Given the description of an element on the screen output the (x, y) to click on. 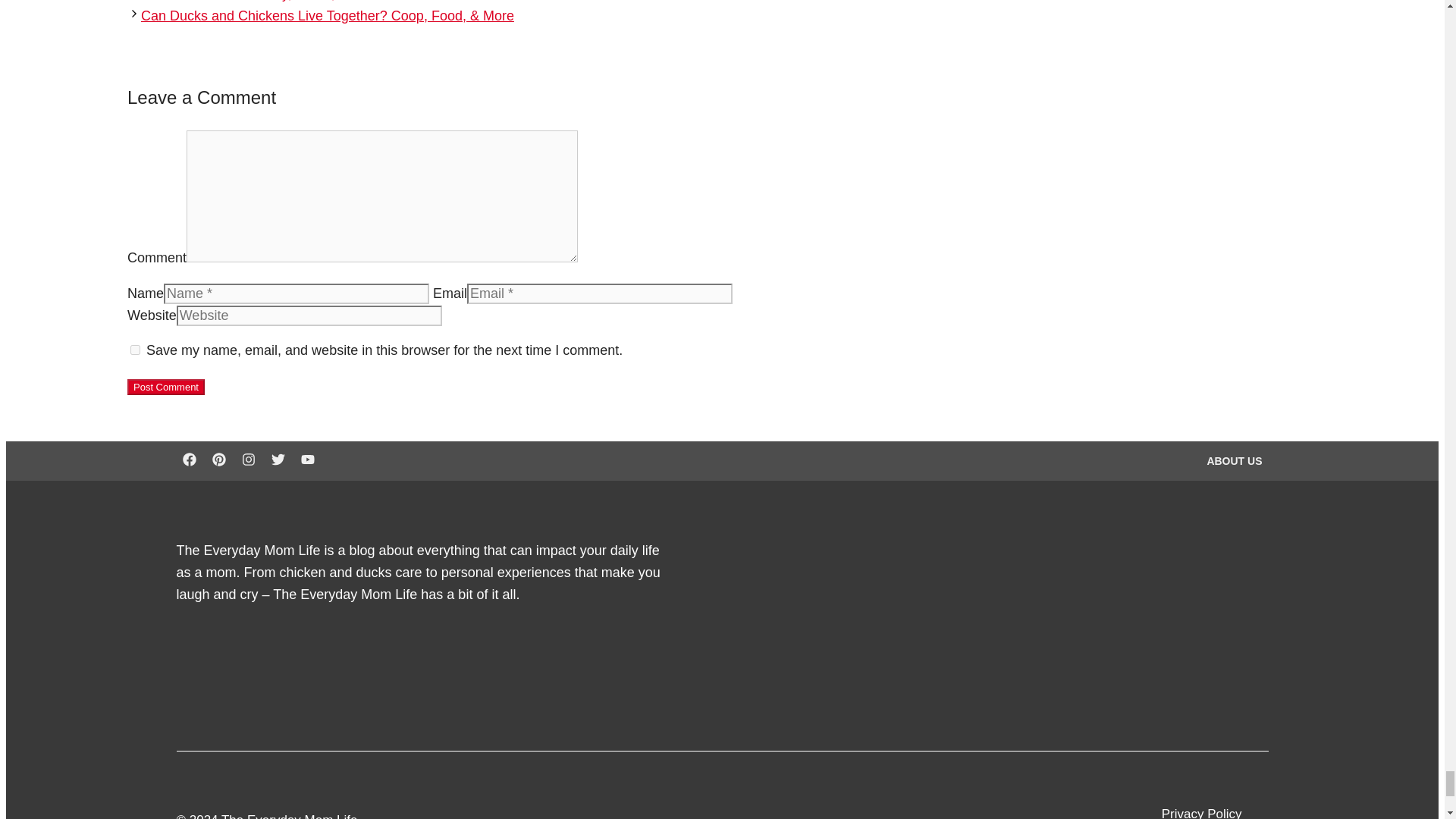
everyday mom logo (1161, 615)
Post Comment (166, 386)
yes (135, 349)
